Given the description of an element on the screen output the (x, y) to click on. 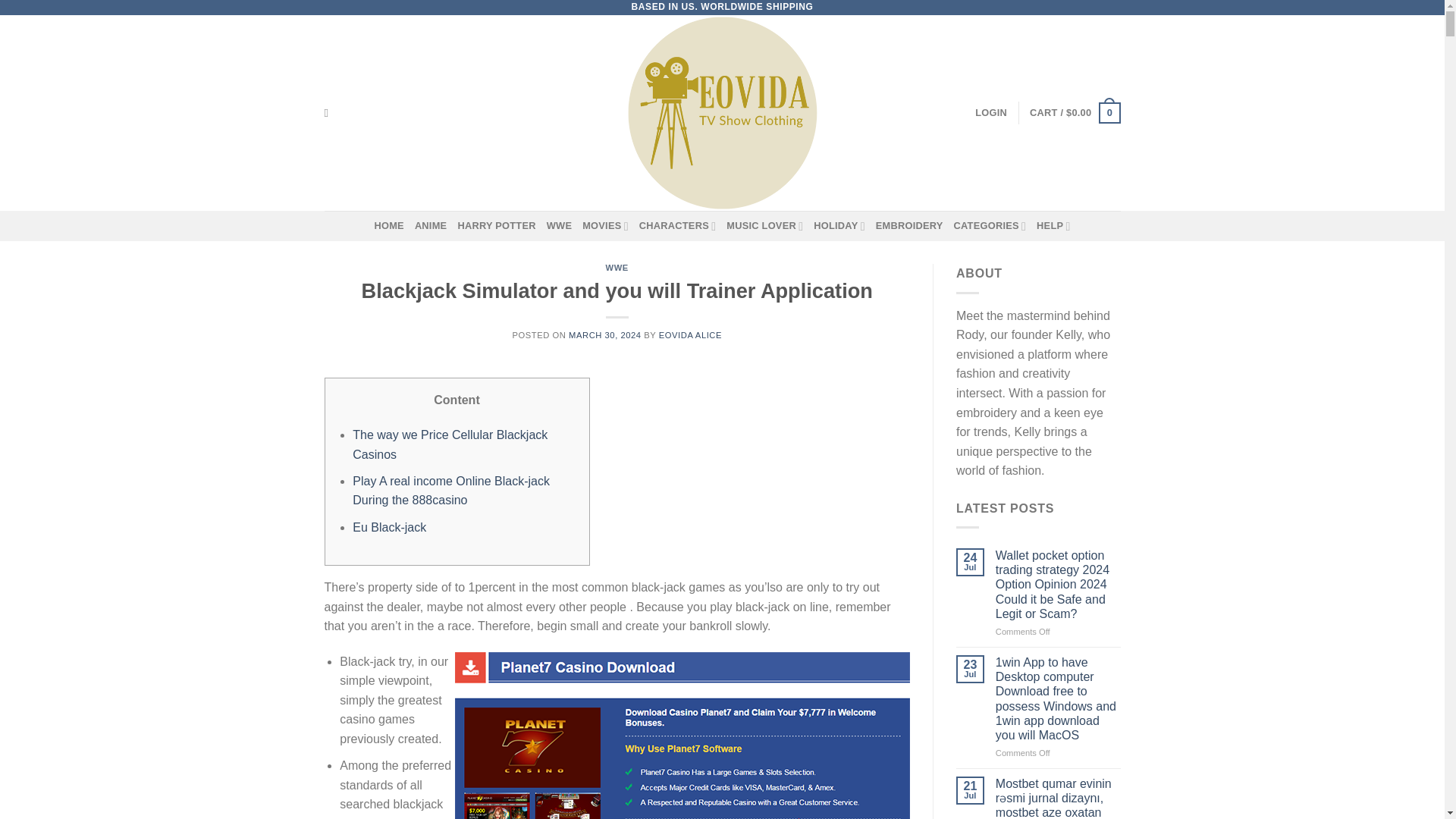
HARRY POTTER (496, 225)
MOVIES (605, 225)
ANIME (430, 225)
WWE (559, 225)
HOME (388, 225)
CHARACTERS (677, 225)
MUSIC LOVER (764, 225)
HOLIDAY (838, 225)
Eovida - TV Show Fashion (722, 112)
Cart (1074, 112)
LOGIN (991, 112)
